Given the description of an element on the screen output the (x, y) to click on. 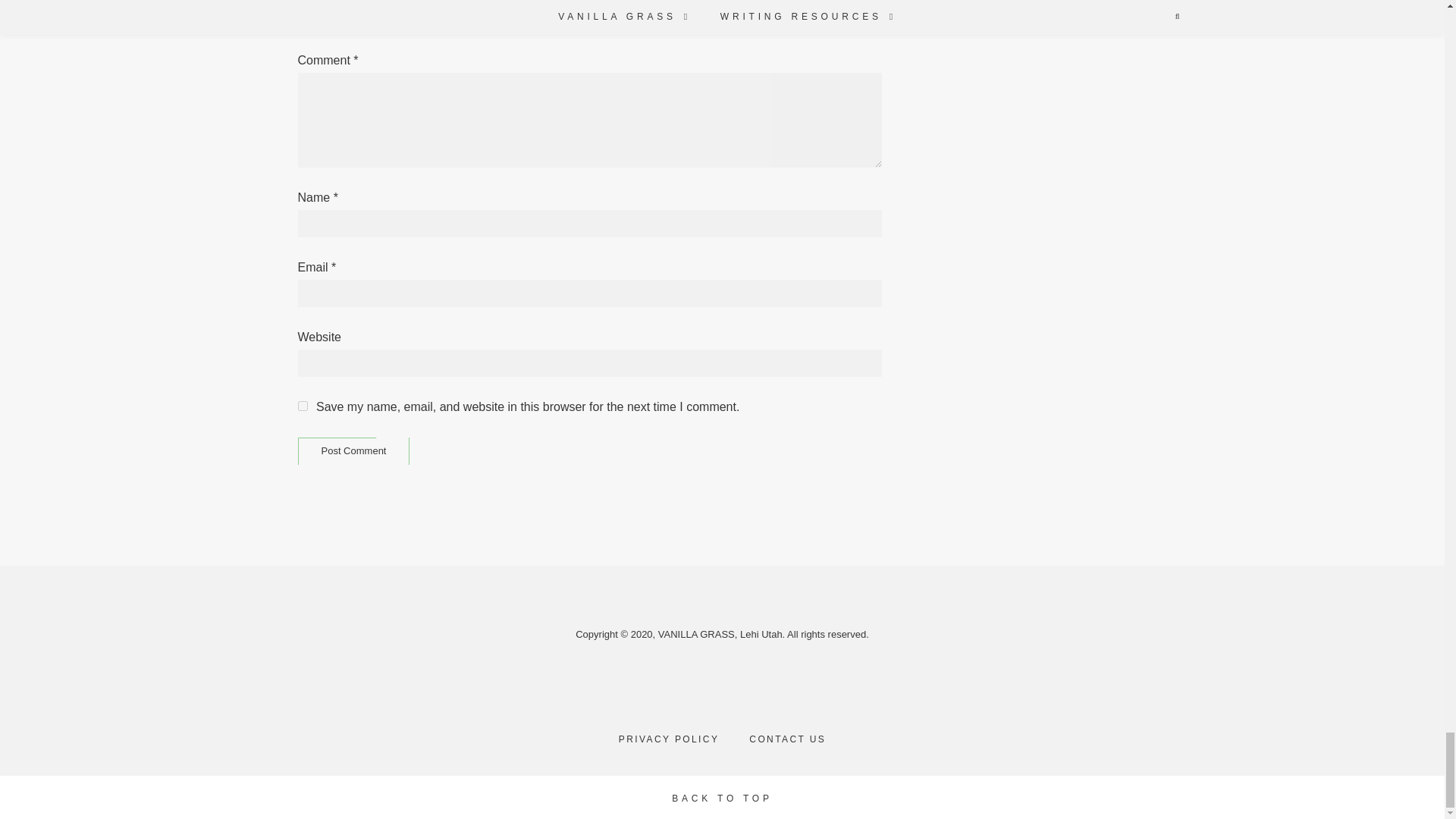
Post Comment (353, 451)
yes (302, 406)
